Given the description of an element on the screen output the (x, y) to click on. 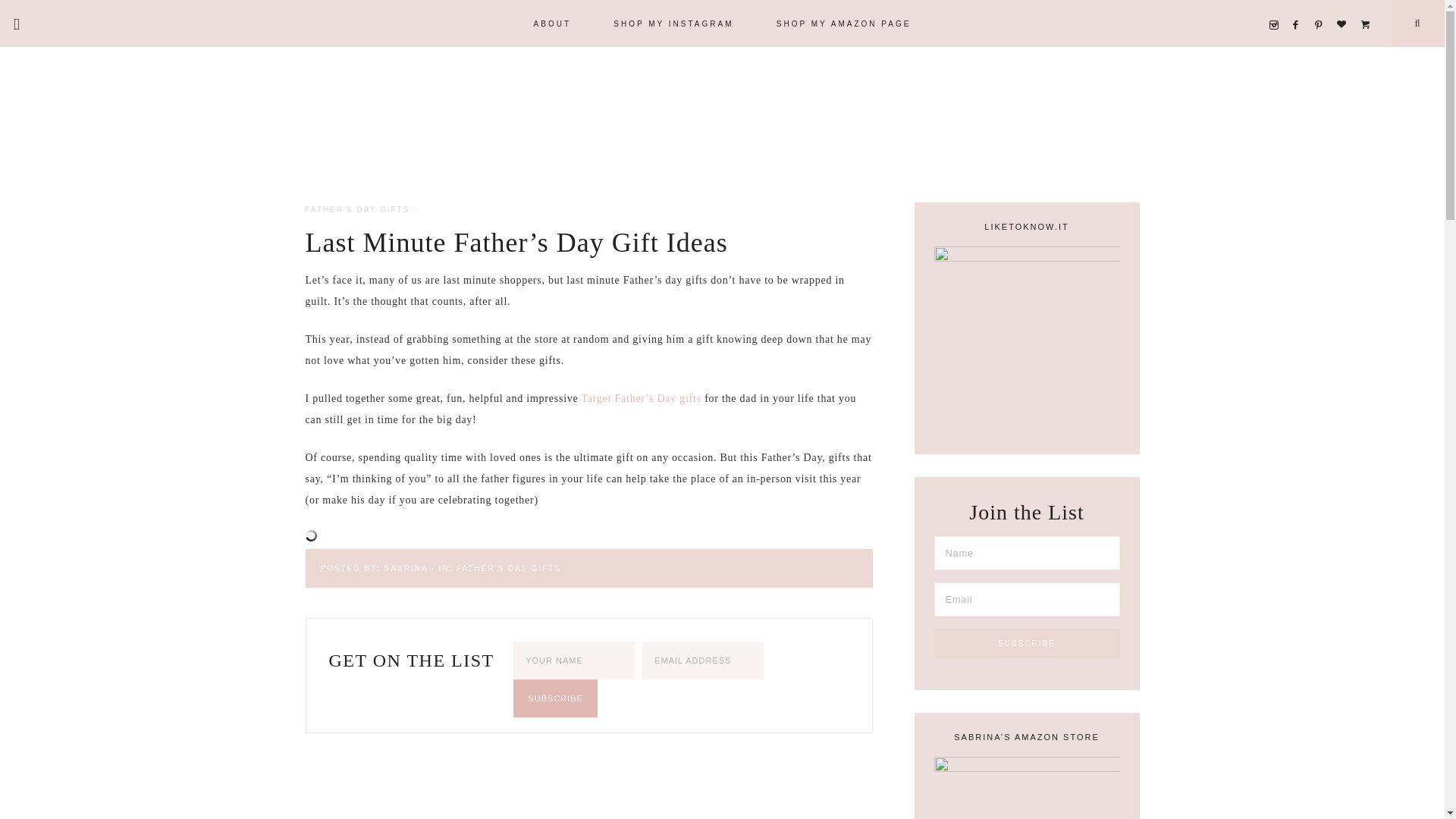
Bloglovin (1345, 6)
SHOP MY INSTAGRAM (673, 22)
LIKEtoKNOWit (1367, 6)
Subscribe (554, 698)
FATHER'S DAY GIFTS (508, 568)
Facebook (1299, 6)
Subscribe (1026, 643)
Pinterest (1322, 6)
Subscribe (554, 698)
SHOP MY AMAZON PAGE (844, 22)
